Given the description of an element on the screen output the (x, y) to click on. 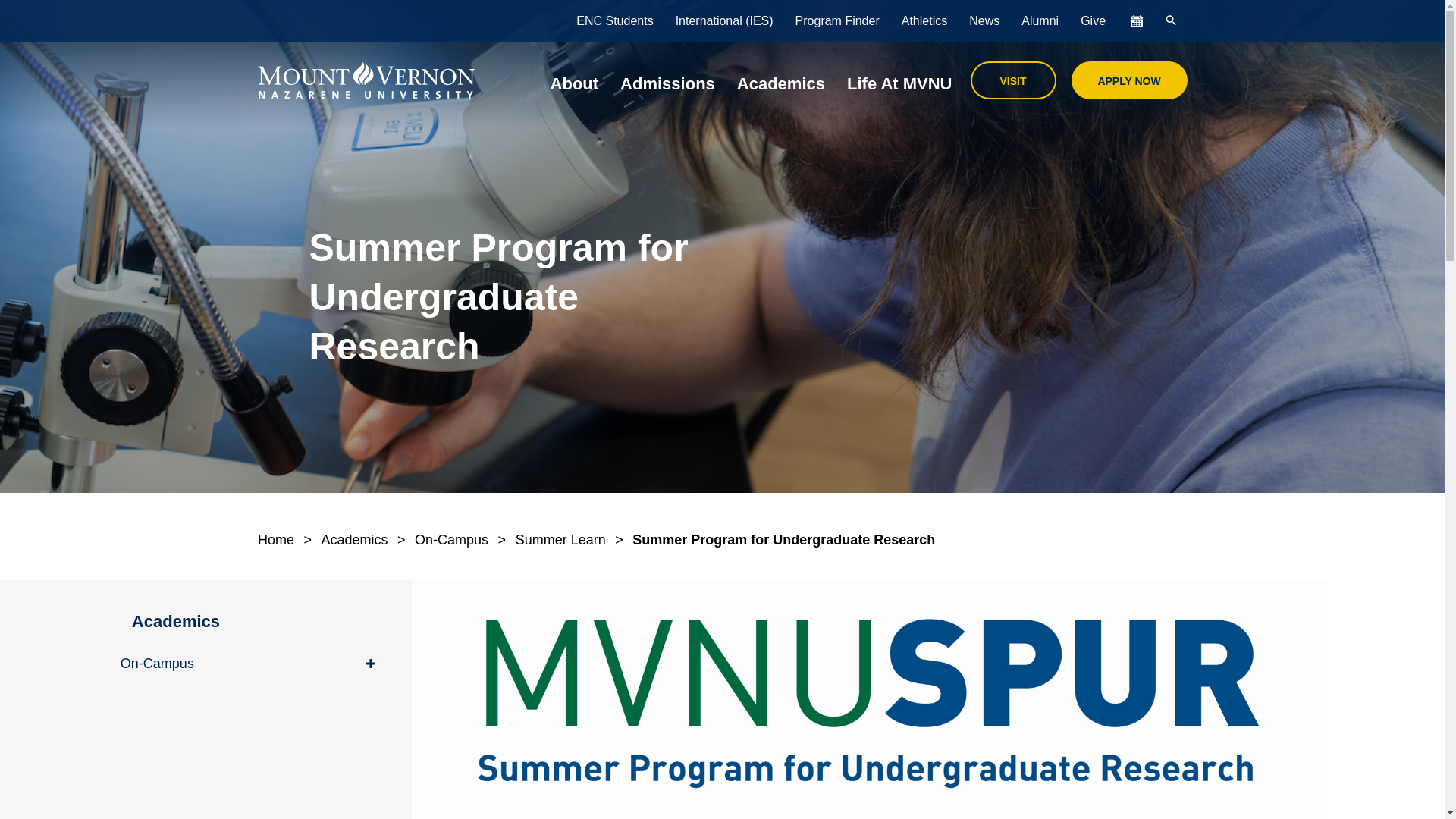
APPLY NOW (1129, 79)
Life At MVNU (898, 79)
ENC Students (614, 20)
cal (1134, 20)
VISIT (1013, 79)
Athletics (924, 20)
Give (1093, 20)
Alumni (1039, 20)
Admissions (667, 79)
Academics (780, 79)
MVNU white logo (365, 80)
Program Finder (836, 20)
News (984, 20)
About (575, 79)
